Given the description of an element on the screen output the (x, y) to click on. 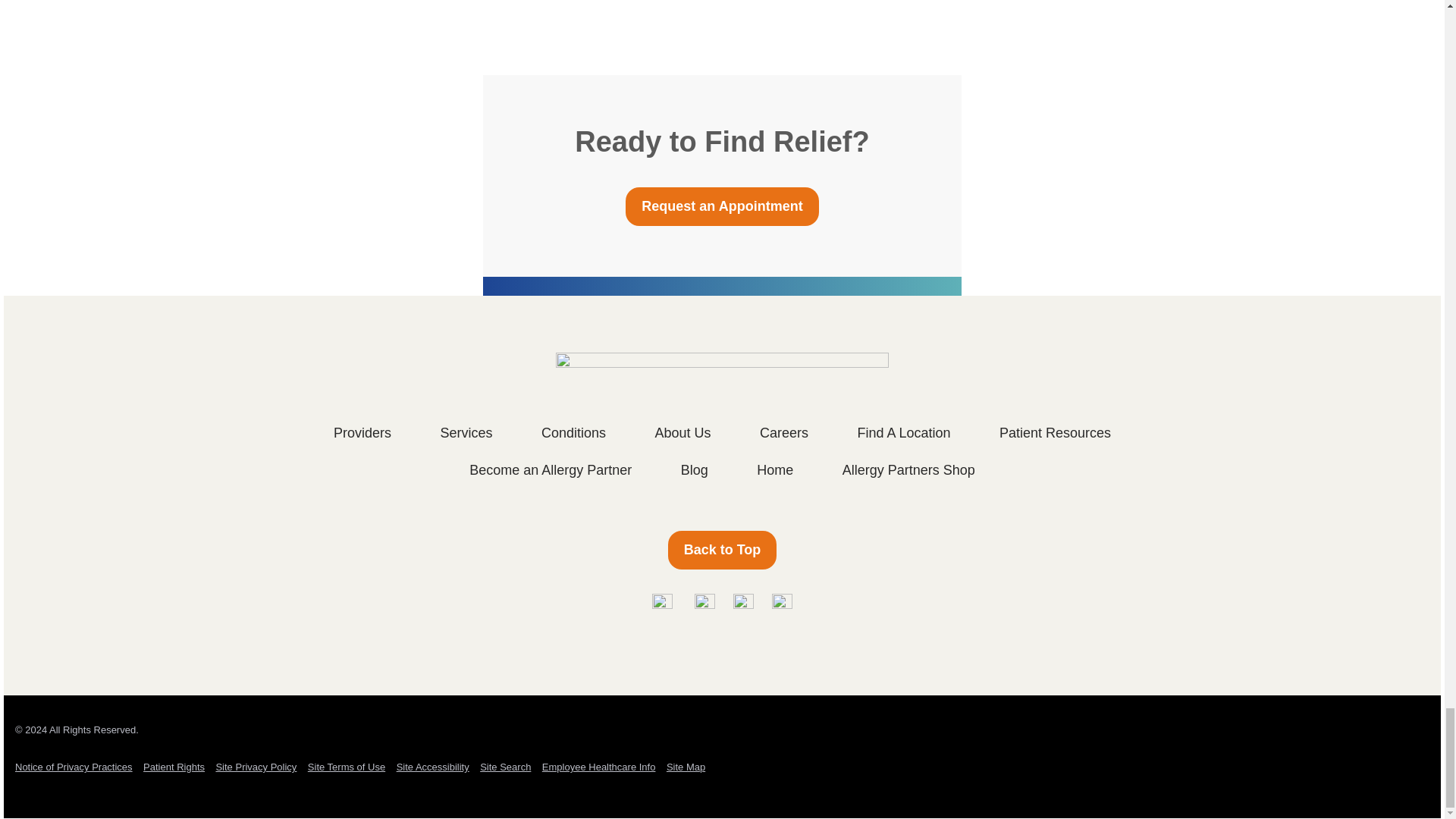
logo-footer (722, 370)
Home (722, 549)
